Given the description of an element on the screen output the (x, y) to click on. 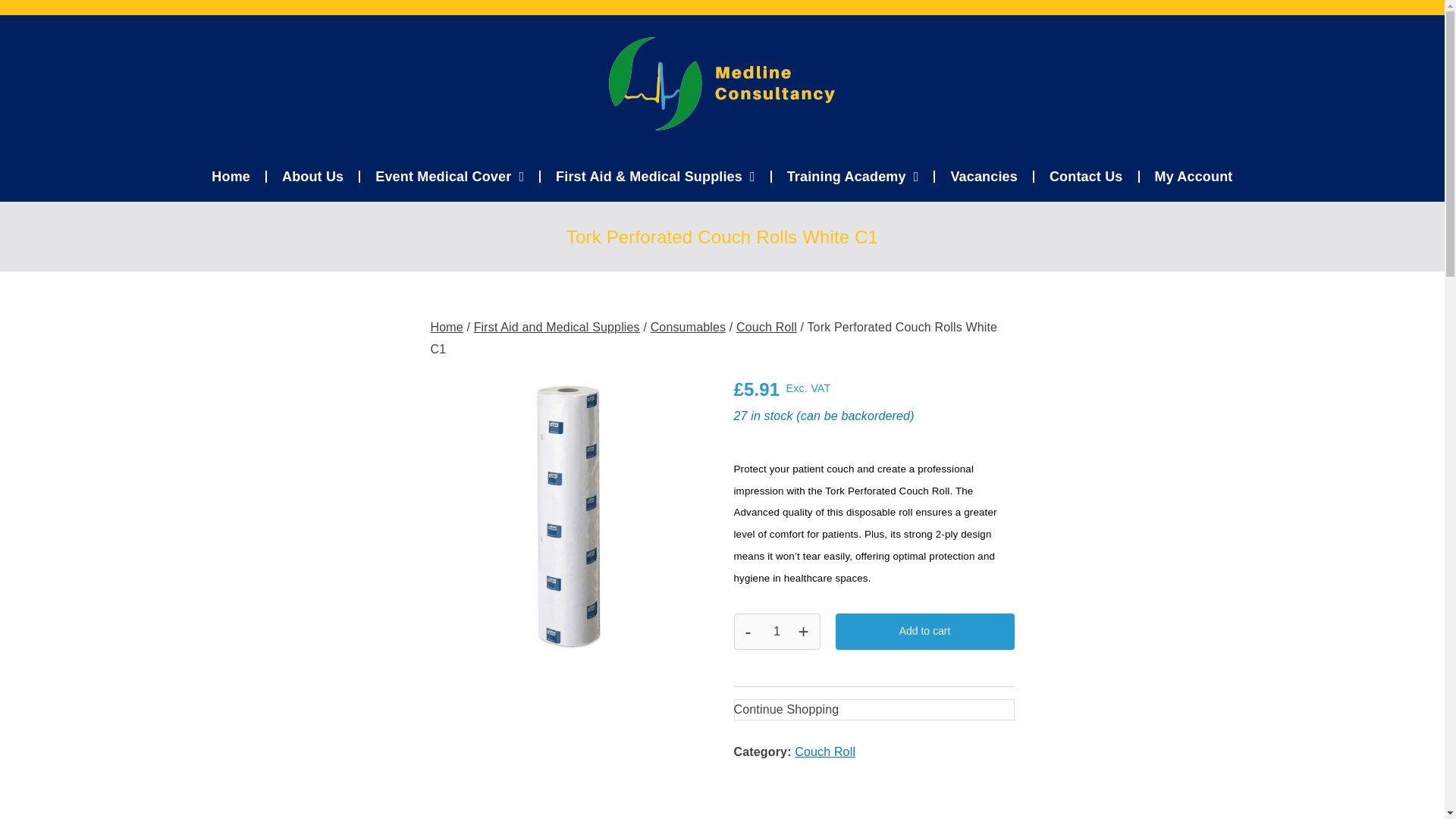
About Us (312, 176)
1 (777, 631)
Event Medical Cover (448, 176)
Home (230, 176)
